Given the description of an element on the screen output the (x, y) to click on. 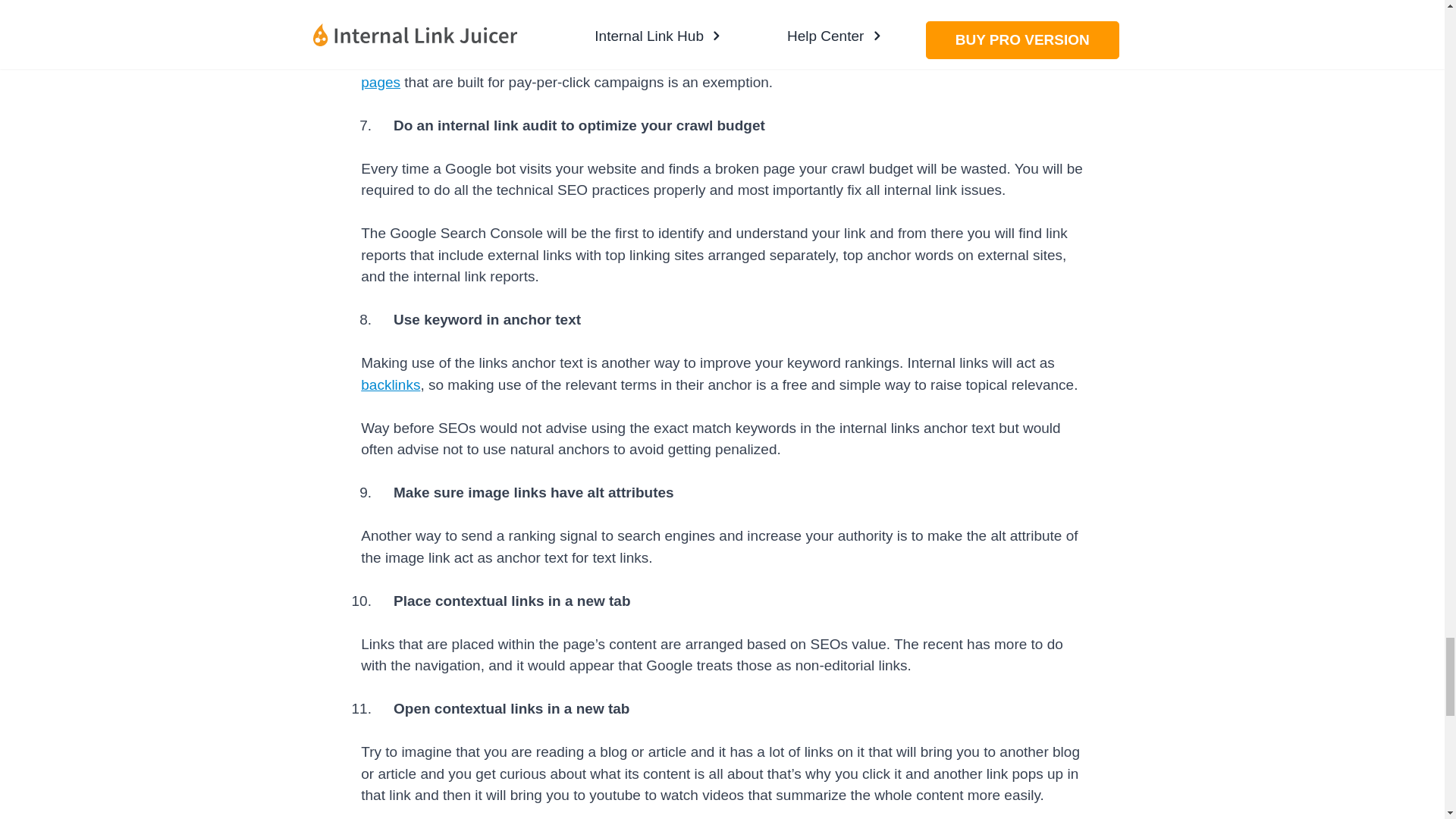
Landing pages (717, 71)
backlinks (390, 384)
orphan pages (535, 2)
